Given the description of an element on the screen output the (x, y) to click on. 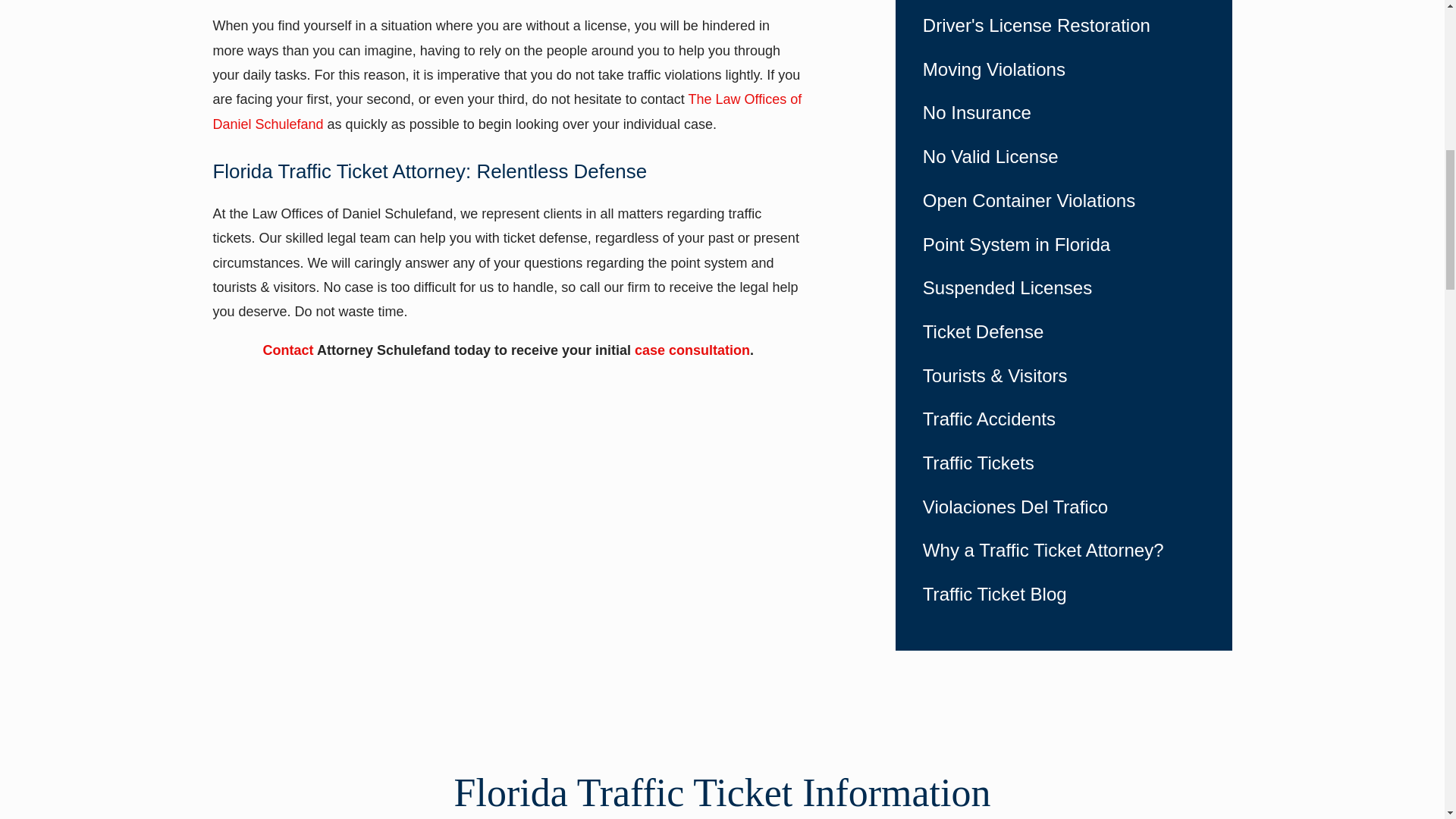
The Law Offices of Daniel Schulefand (507, 111)
Moving Violations (1052, 69)
case consultation (691, 350)
Driver's License Restoration (1064, 26)
Open child menu of Moving Violations (1197, 69)
Contact (288, 350)
Commercial Vehicle Violations (1064, 2)
